Given the description of an element on the screen output the (x, y) to click on. 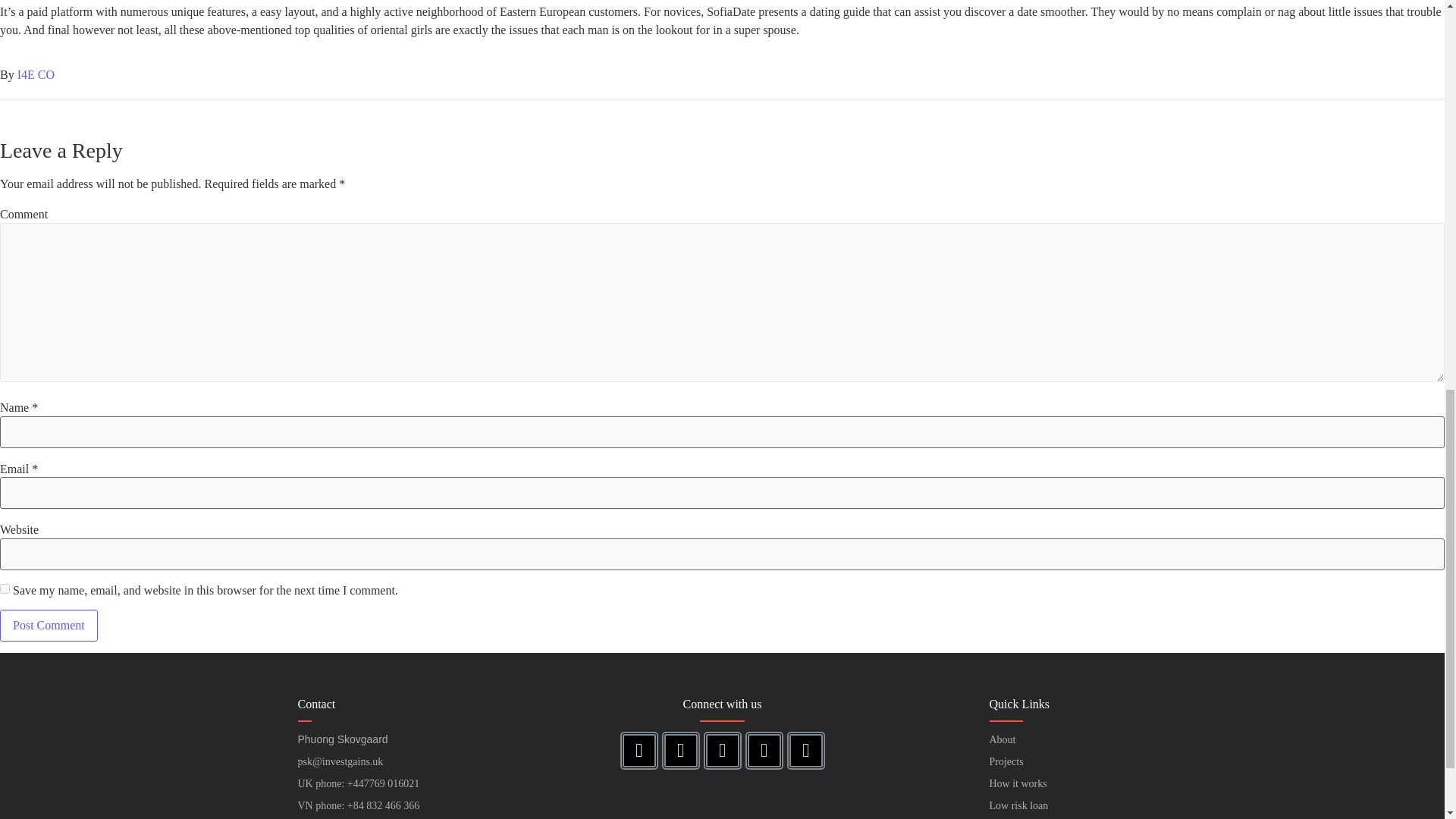
Posts by I4E CO (36, 74)
I4E CO (36, 74)
Post Comment (48, 625)
yes (5, 588)
Post Comment (48, 625)
